Given the description of an element on the screen output the (x, y) to click on. 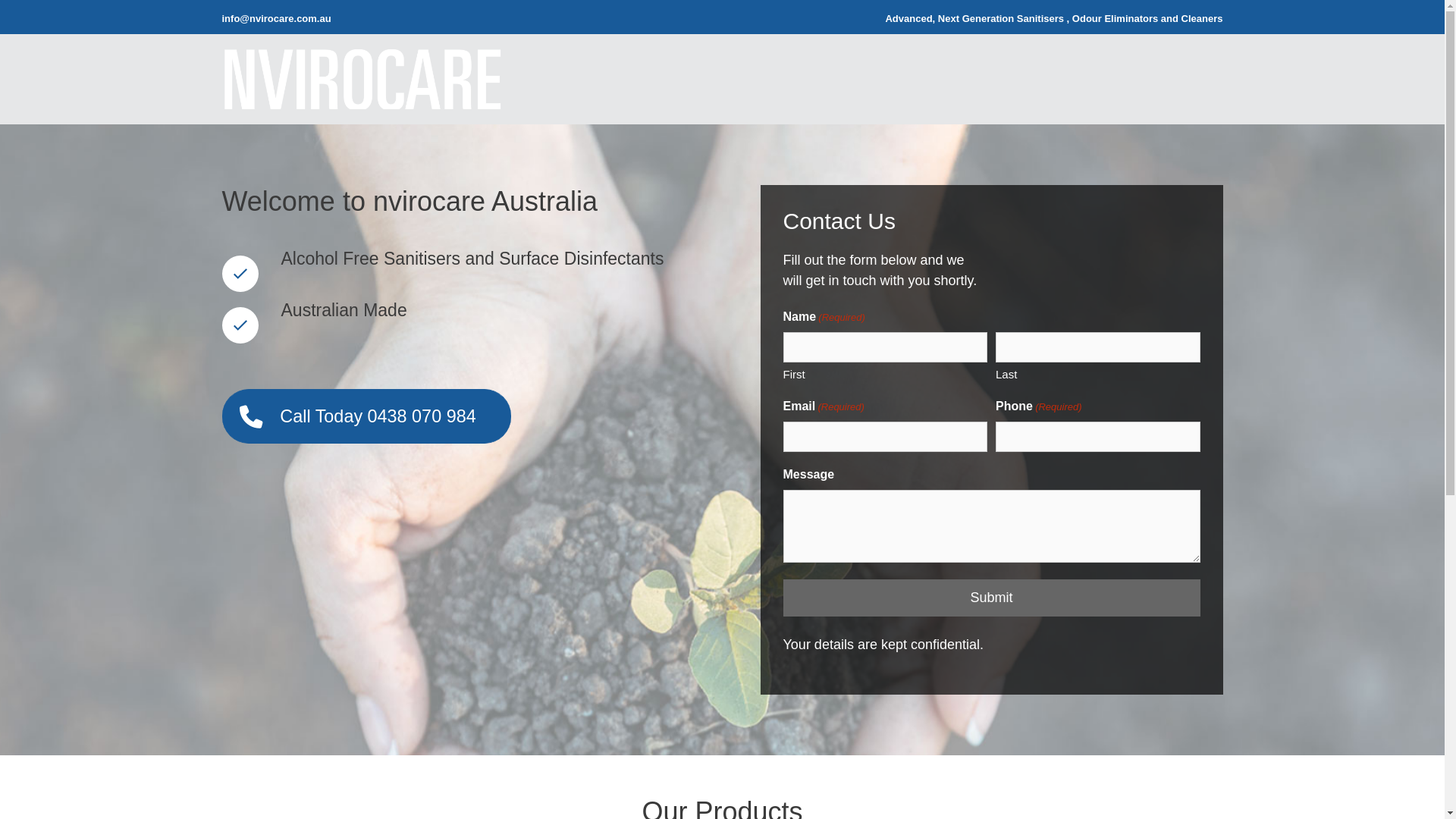
Australian Made Element type: hover (239, 325)
info@nvirocare.com.au Element type: text (275, 18)
Alcohol Free Sanitisers and Surface Disinfectants Element type: hover (239, 273)
Submit Element type: text (990, 597)
Call Today 0438 070 984 Element type: text (366, 416)
